Given the description of an element on the screen output the (x, y) to click on. 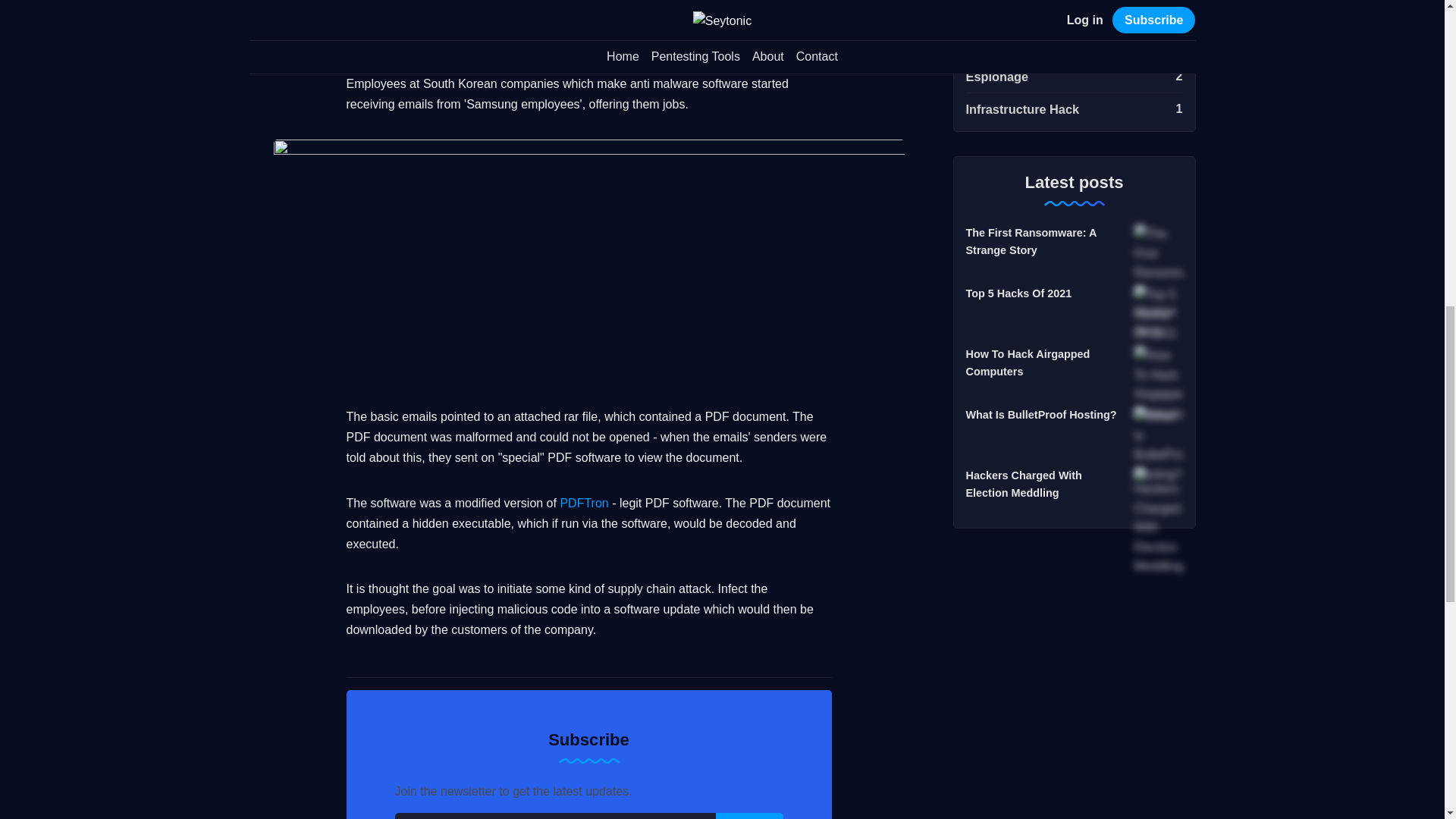
PDFTron (1074, 43)
Subscribe (1074, 105)
